Given the description of an element on the screen output the (x, y) to click on. 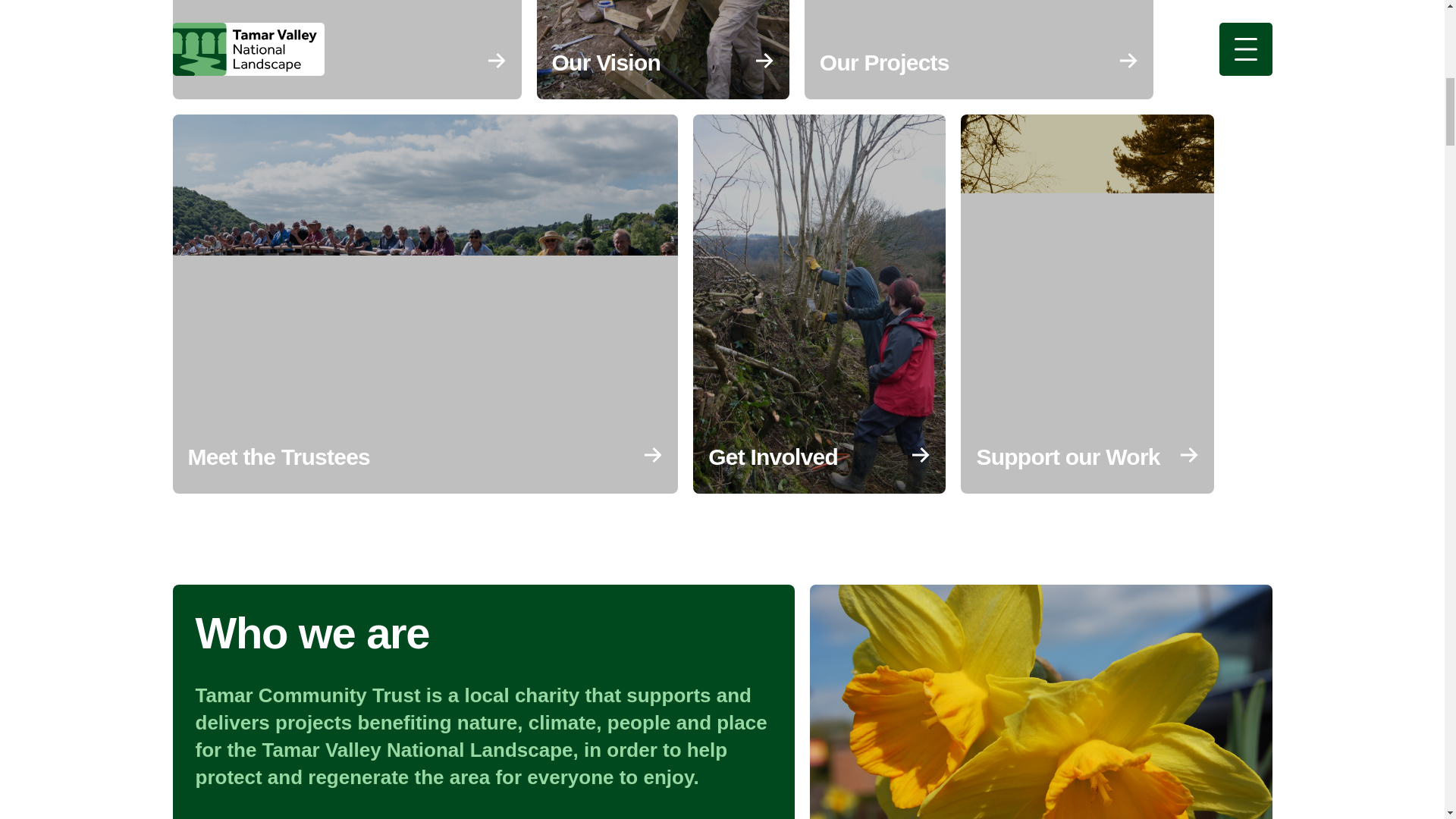
Our Projects (979, 49)
Our Vision (663, 49)
Who we are (347, 49)
